Given the description of an element on the screen output the (x, y) to click on. 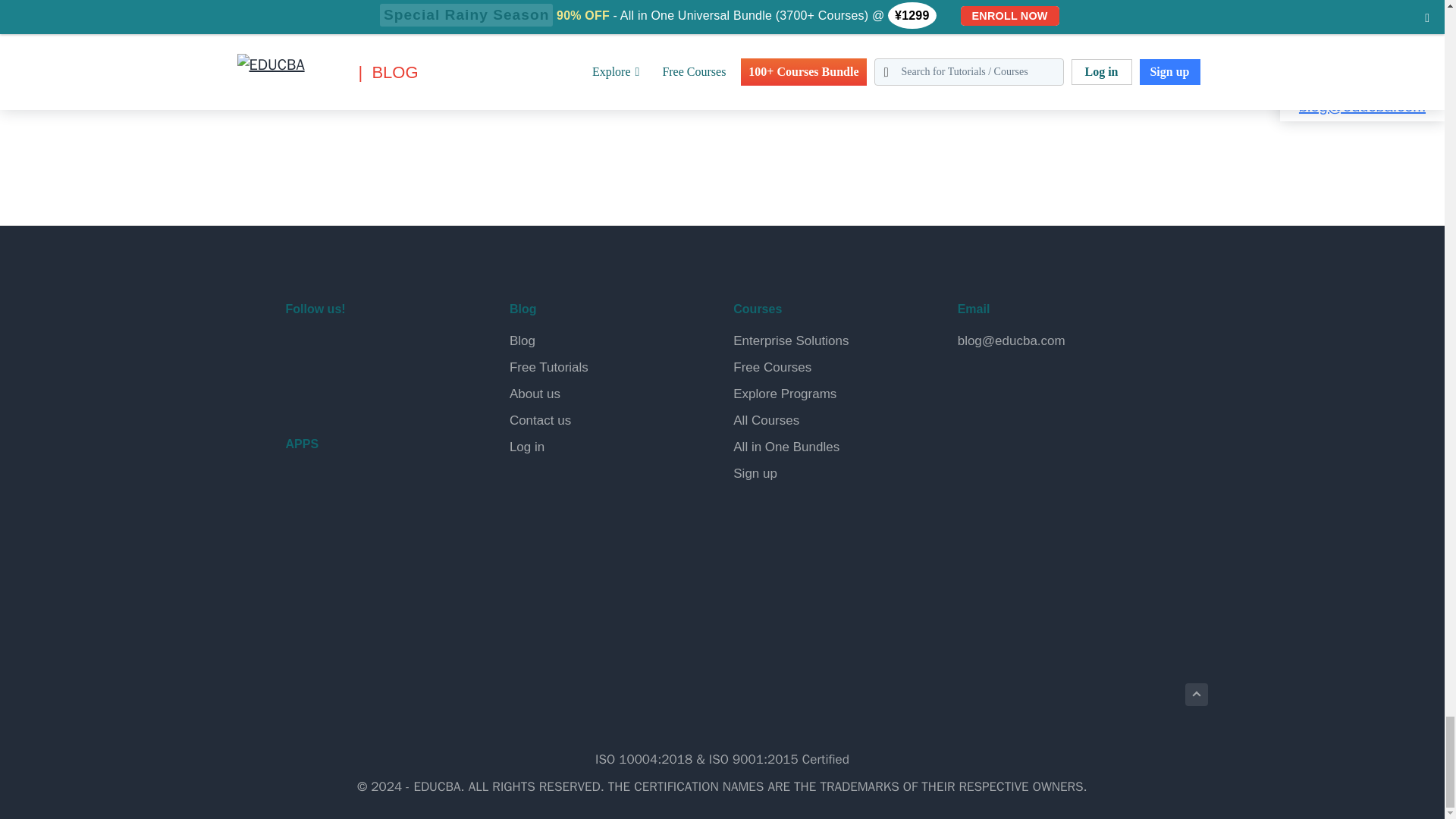
EDUCBA LinkedIN (371, 349)
EDUCBA Twitter (336, 349)
EDUCBA Udemy (371, 387)
EDUCBA Coursera (336, 387)
EDUCBA Facebook (300, 349)
EDUCBA iOS App (360, 562)
EDUCBA Instagram (408, 349)
EDUCBA Youtube (300, 387)
EDUCBA Android App (360, 498)
